Given the description of an element on the screen output the (x, y) to click on. 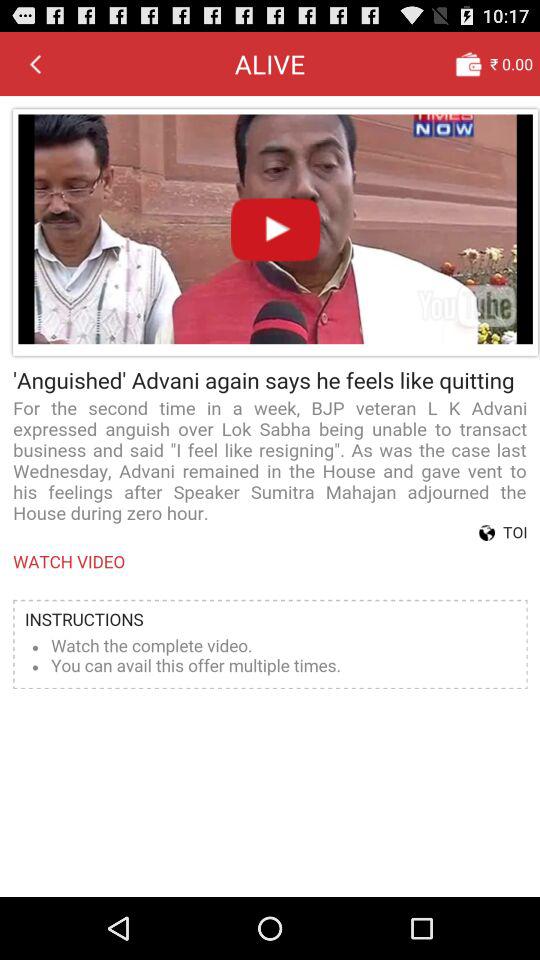
lock (468, 63)
